Given the description of an element on the screen output the (x, y) to click on. 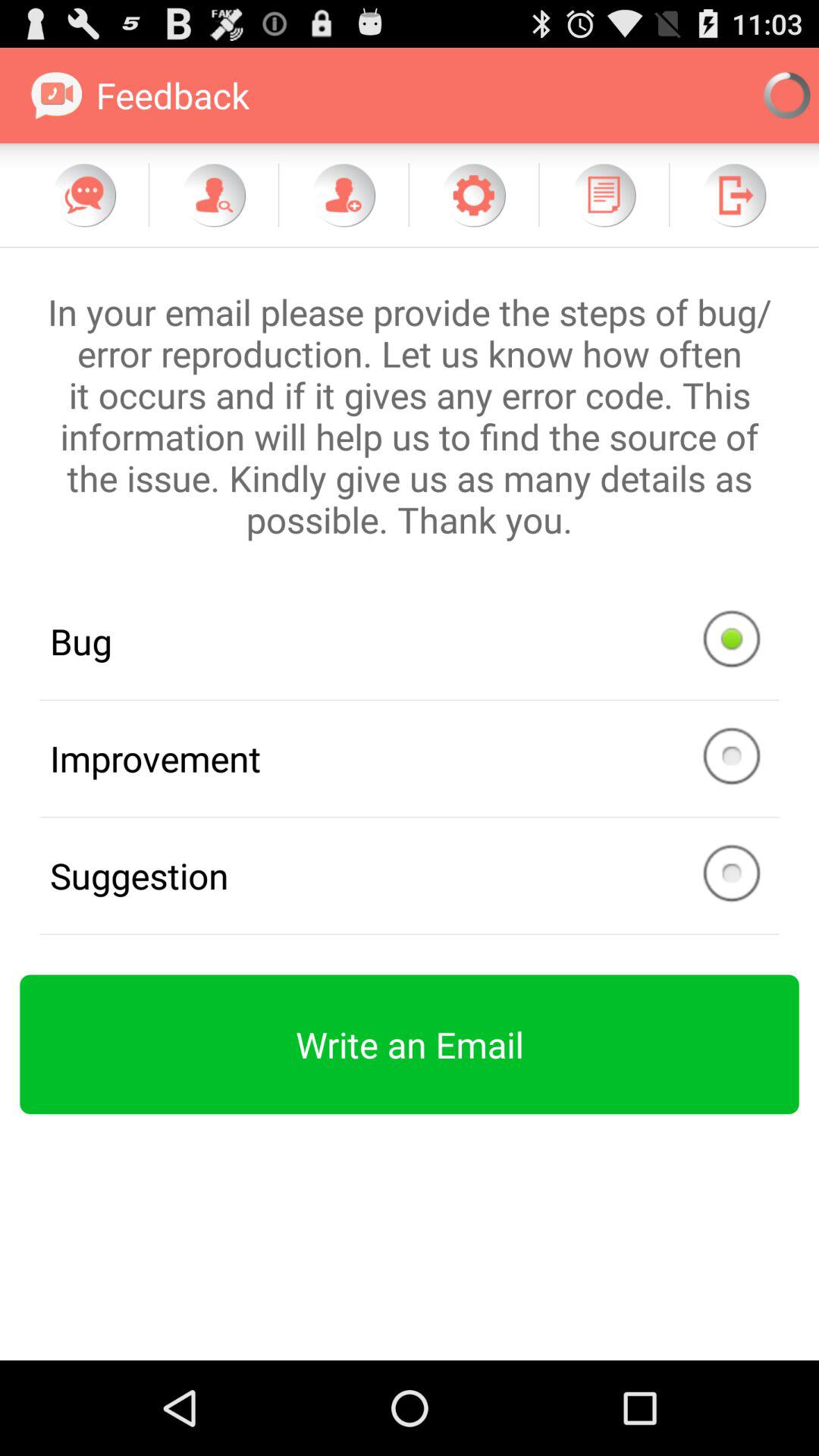
send a text message (84, 194)
